Given the description of an element on the screen output the (x, y) to click on. 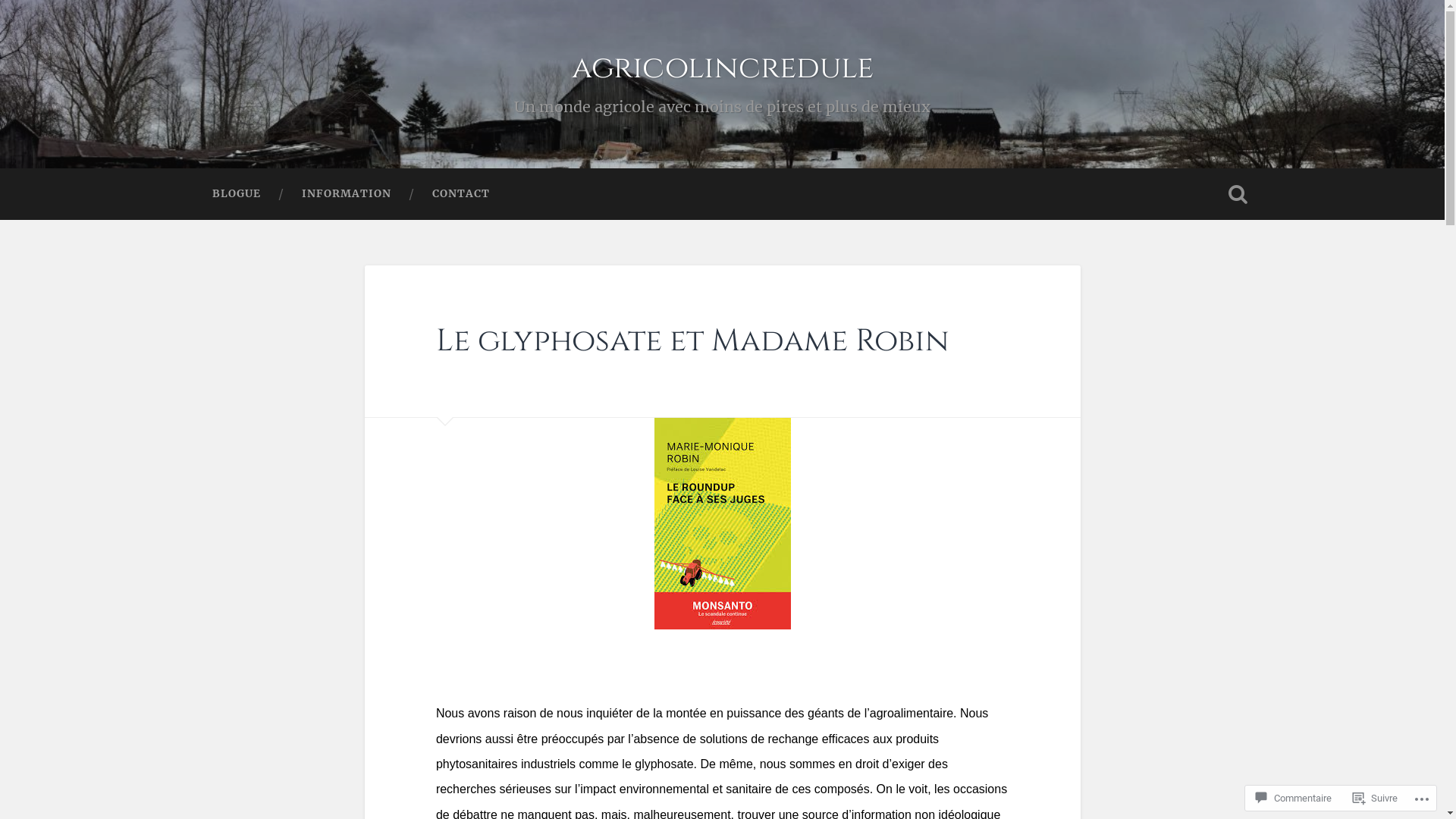
BLOGUE Element type: text (235, 193)
Suivre Element type: text (1374, 797)
agricolincredule Element type: text (722, 67)
Ouvrir la recherche Element type: text (1237, 193)
CONTACT Element type: text (460, 193)
INFORMATION Element type: text (345, 193)
Le glyphosate et Madame Robin Element type: text (692, 340)
Commentaire Element type: text (1293, 797)
